Given the description of an element on the screen output the (x, y) to click on. 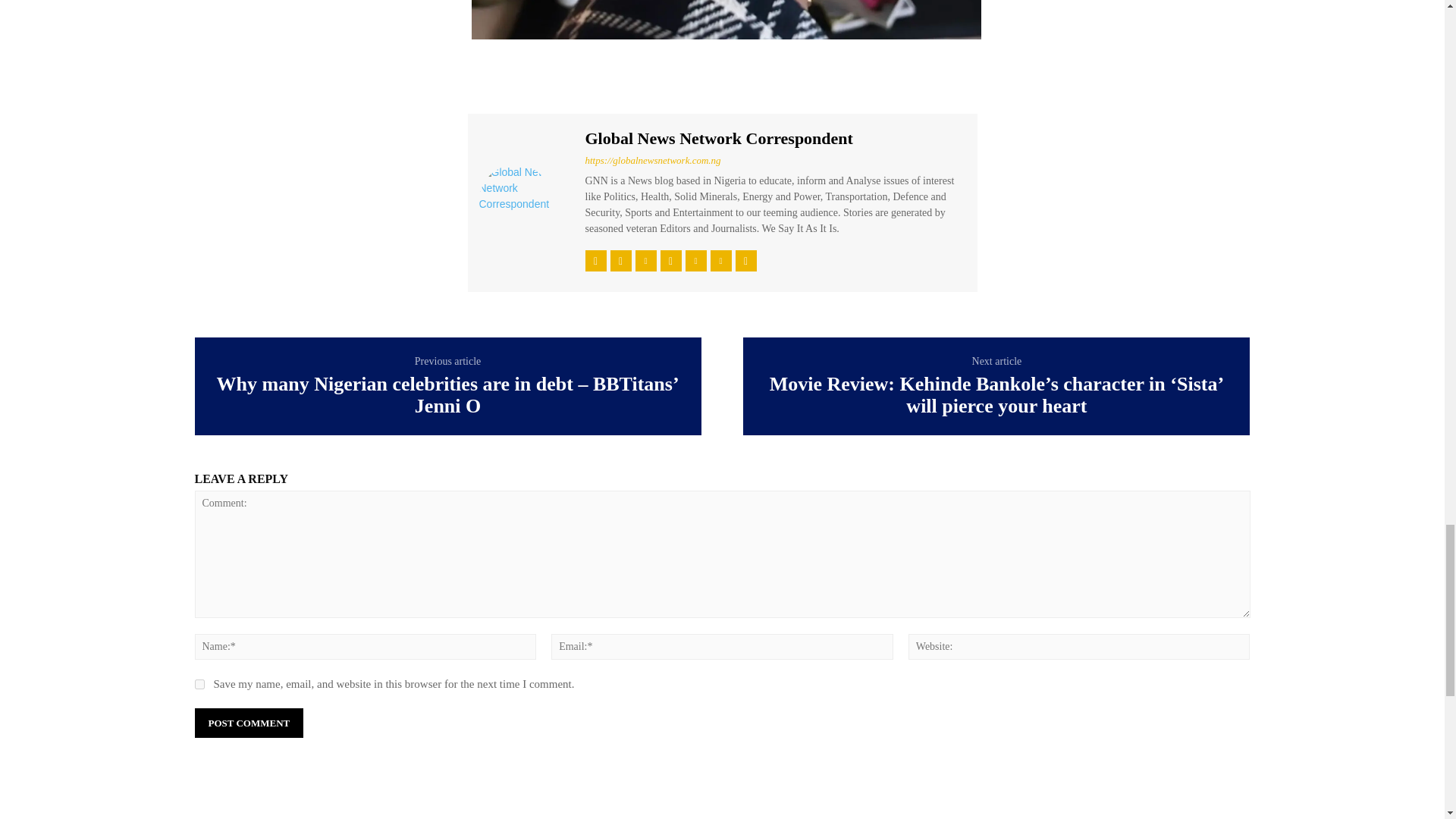
yes (198, 684)
Post Comment (247, 722)
